Given the description of an element on the screen output the (x, y) to click on. 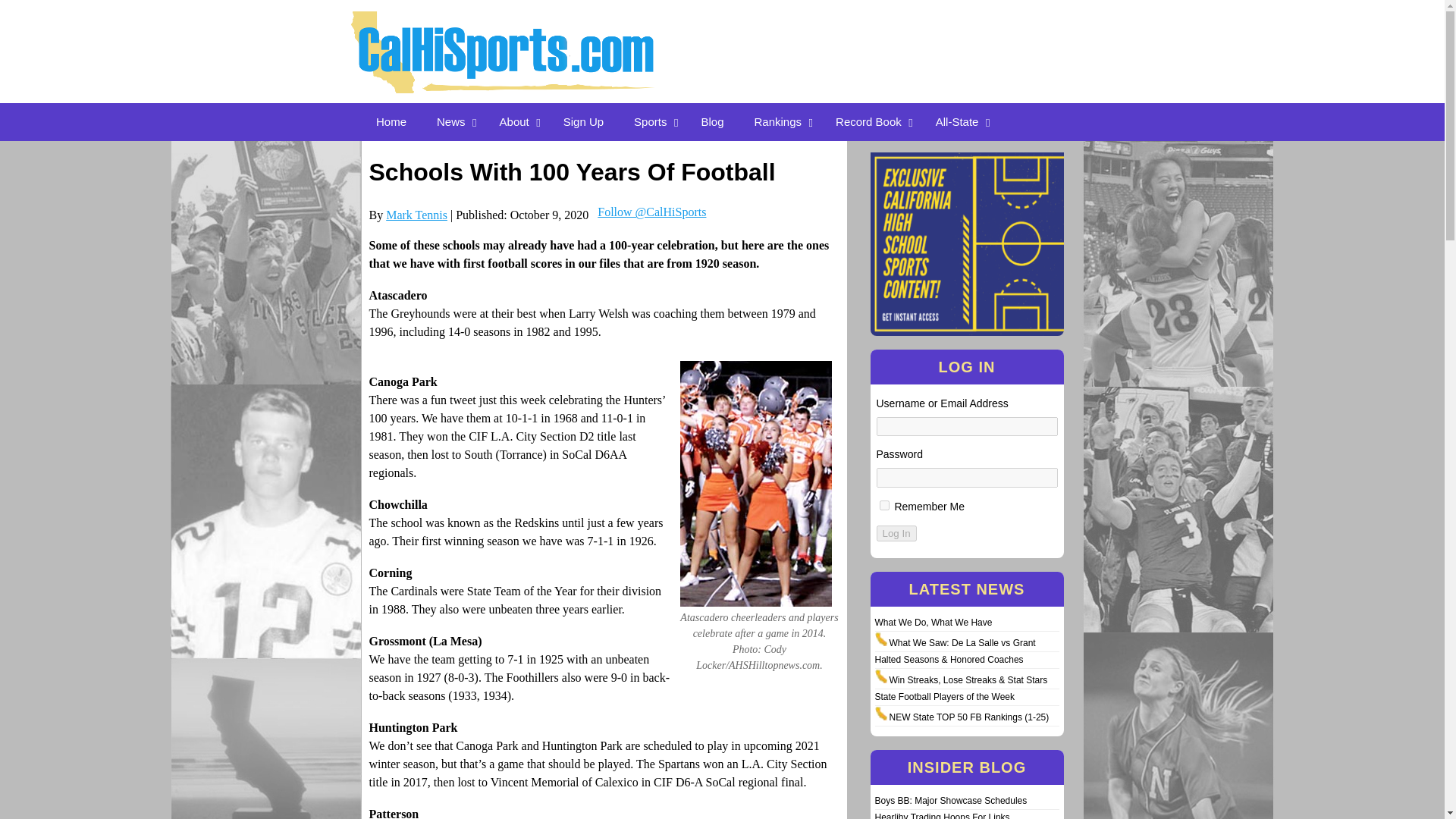
Rankings (779, 121)
Sign Up (583, 121)
forever (884, 505)
Permalink to State Football Players of the Week (944, 696)
Advertisement (941, 36)
Record Book (870, 121)
Permalink to Hearlihy Trading Hoops For Links (942, 815)
Permalink to What We Do, What We Have (933, 622)
About (516, 121)
Permalink to Boys BB: Major Showcase Schedules (951, 800)
